Given the description of an element on the screen output the (x, y) to click on. 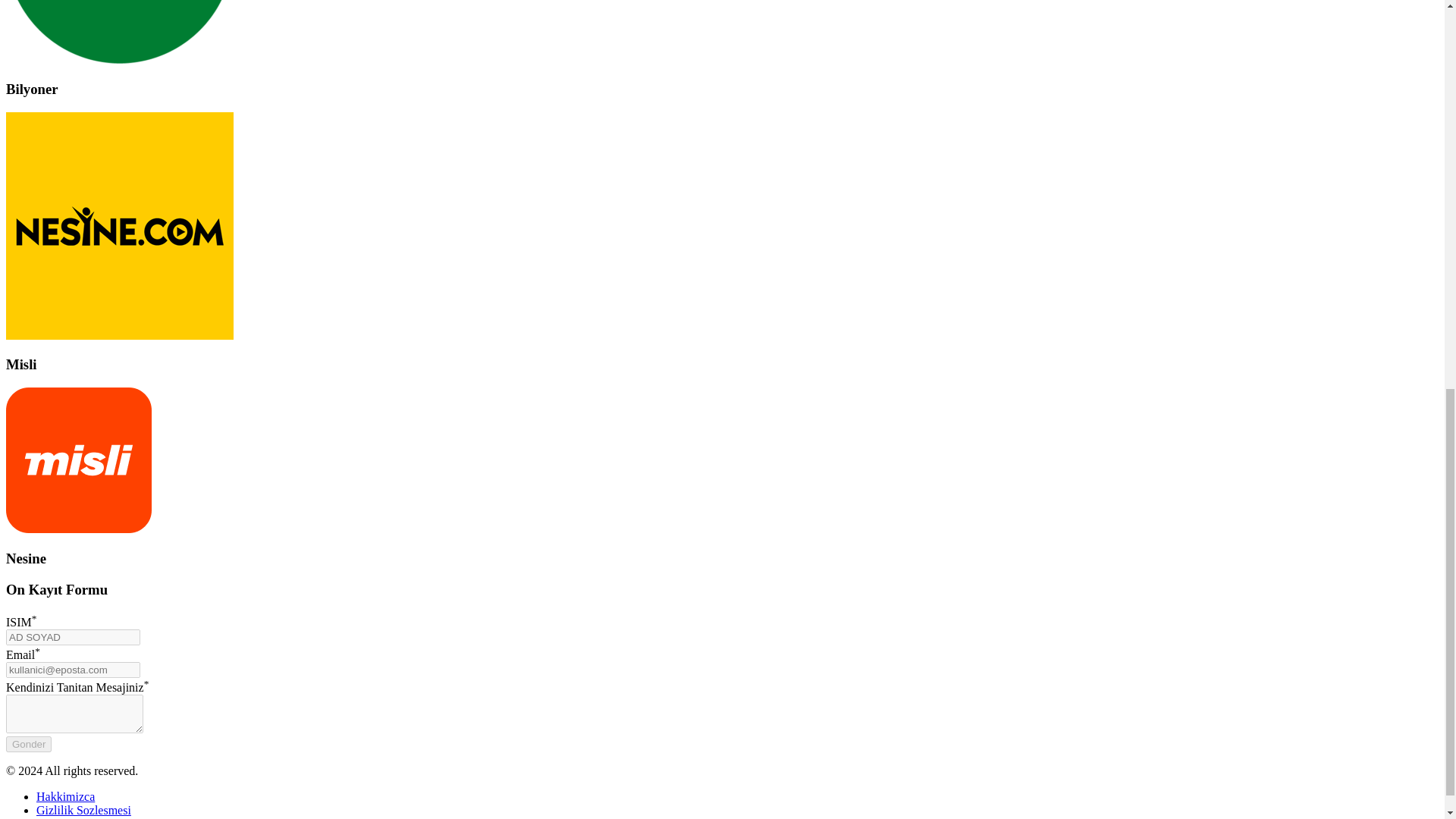
Hakkimizca (65, 796)
Gizlilik Sozlesmesi (83, 809)
Gonder (27, 744)
